Given the description of an element on the screen output the (x, y) to click on. 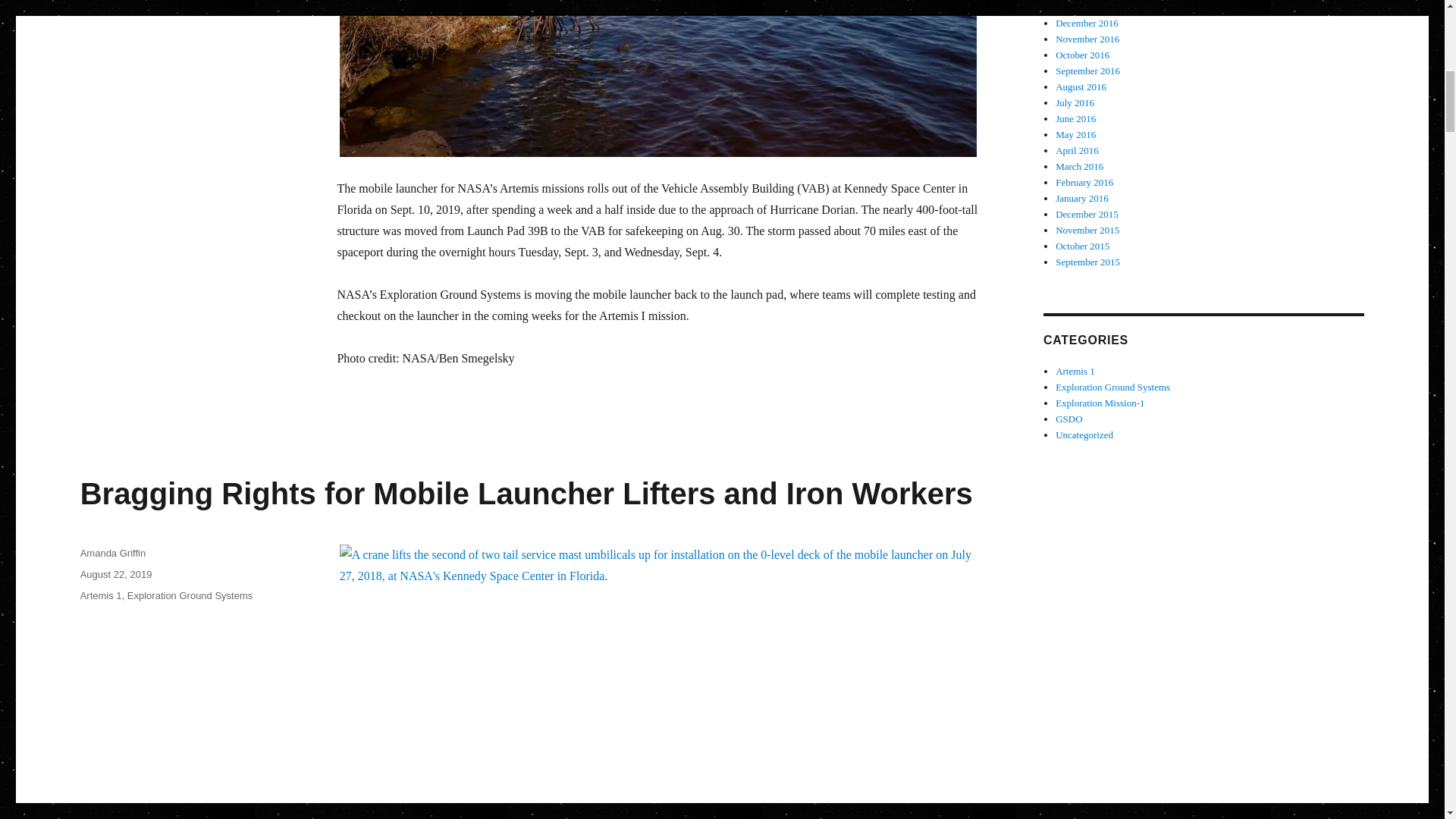
August 22, 2019 (116, 573)
Amanda Griffin (112, 552)
Exploration Ground Systems (189, 595)
Artemis 1 (101, 595)
Bragging Rights for Mobile Launcher Lifters and Iron Workers (526, 493)
